Given the description of an element on the screen output the (x, y) to click on. 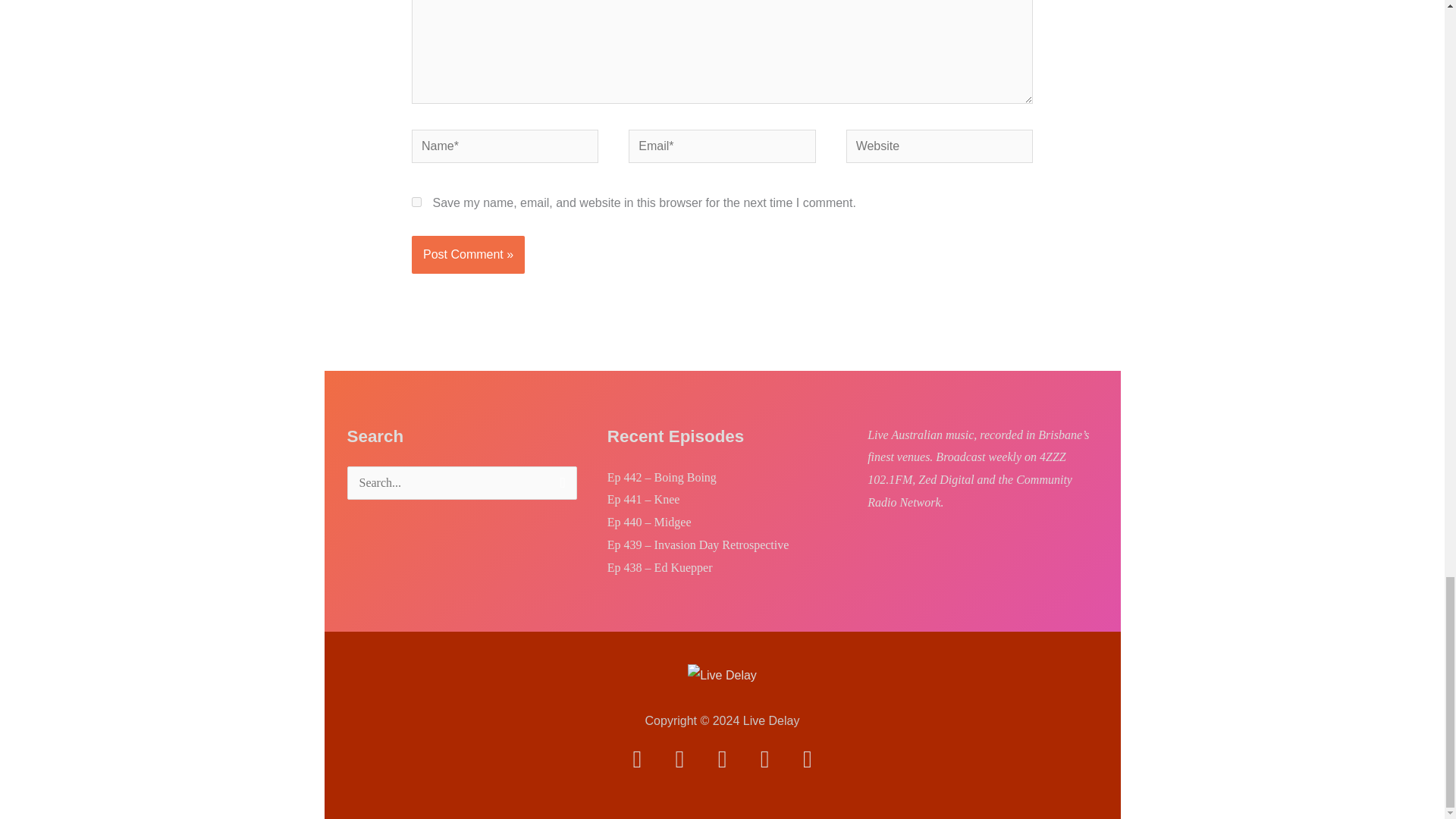
yes (417, 202)
Live Delay (722, 675)
Community Radio Network (969, 490)
4ZZZ 102.1FM (966, 468)
Zed Digital (946, 479)
